Given the description of an element on the screen output the (x, y) to click on. 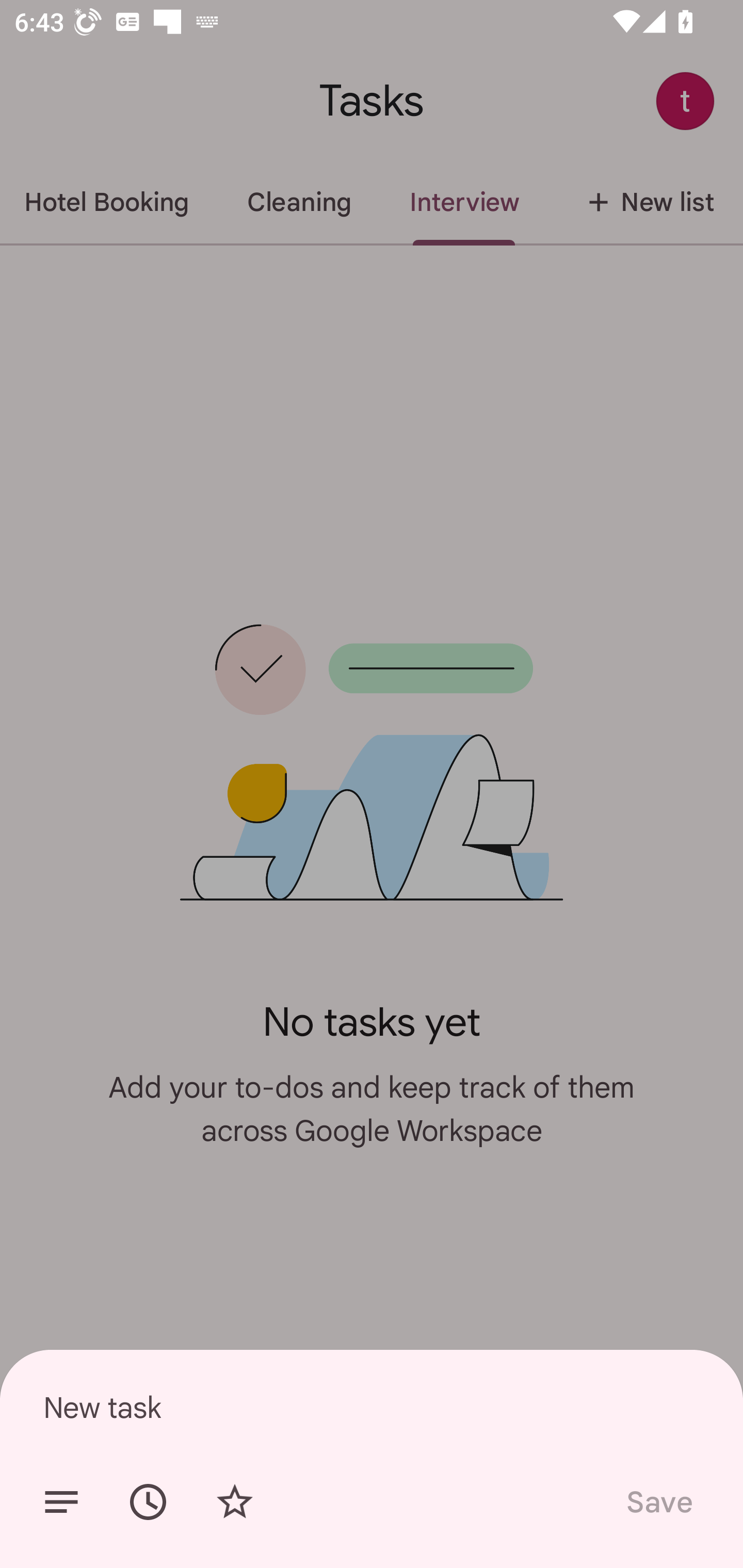
New task (371, 1407)
Save (659, 1501)
Add details (60, 1501)
Set date/time (147, 1501)
Add star (234, 1501)
